Given the description of an element on the screen output the (x, y) to click on. 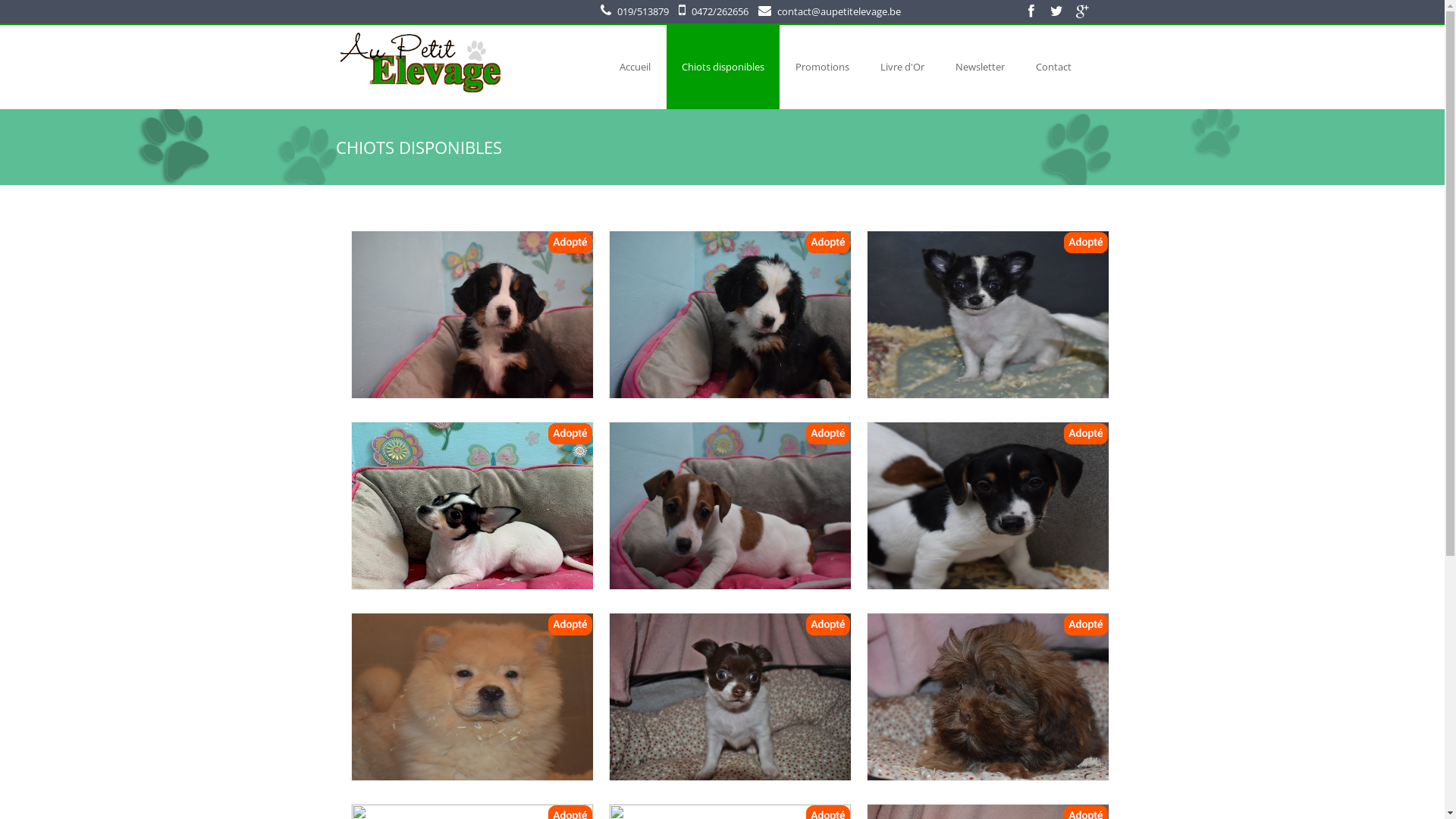
Livre d'Or Element type: text (901, 67)
contact@aupetitelevage.be Element type: text (838, 11)
Newsletter Element type: text (979, 67)
Chiots disponibles Element type: text (721, 67)
Promotions Element type: text (821, 67)
Accueil Element type: text (634, 67)
Contact Element type: text (1053, 67)
